Given the description of an element on the screen output the (x, y) to click on. 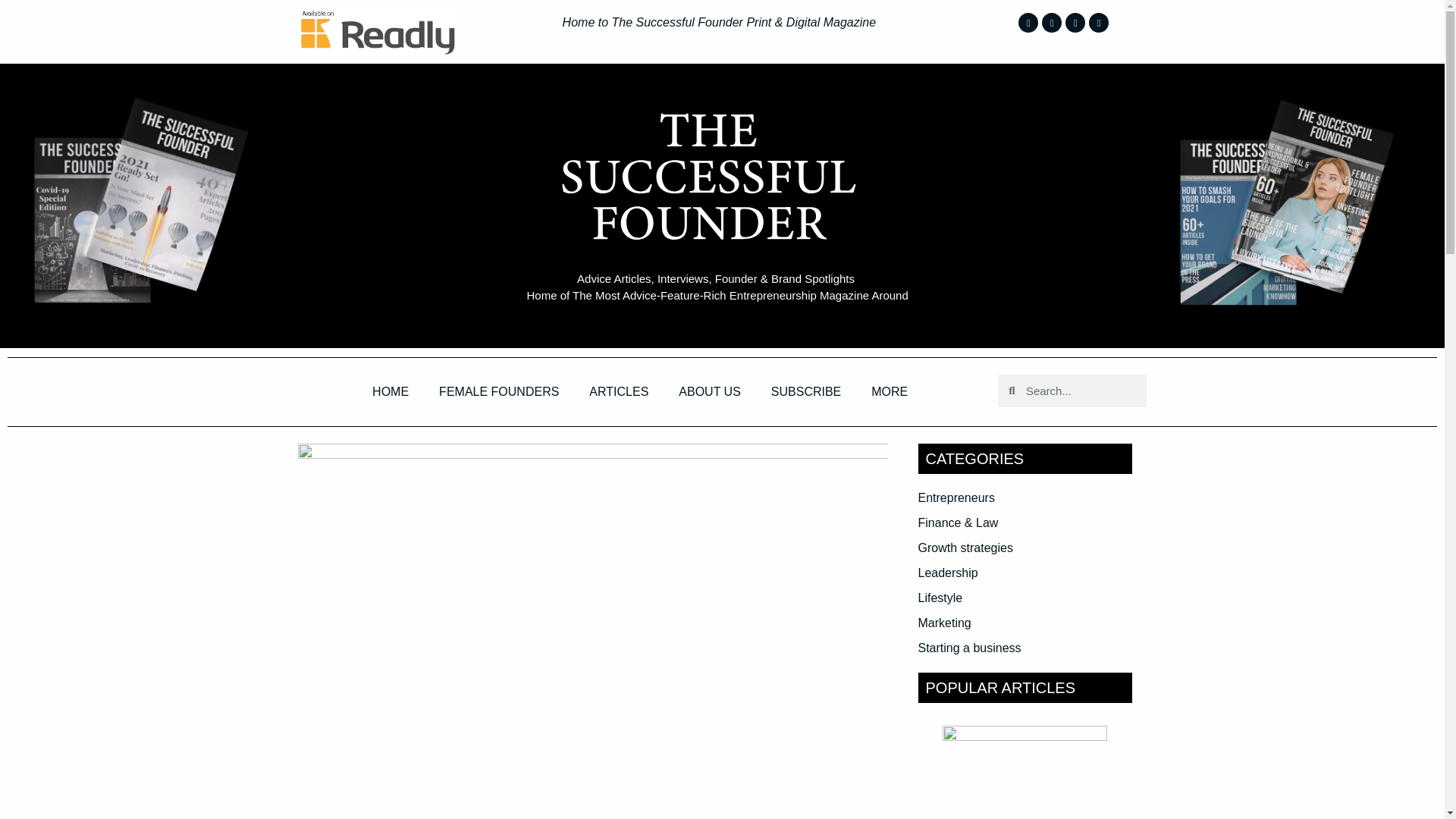
FEMALE FOUNDERS (498, 391)
Entrepreneurs (955, 497)
SUBSCRIBE (805, 391)
HOME (389, 391)
ARTICLES (618, 391)
ABOUT US (709, 391)
MORE (889, 391)
